Given the description of an element on the screen output the (x, y) to click on. 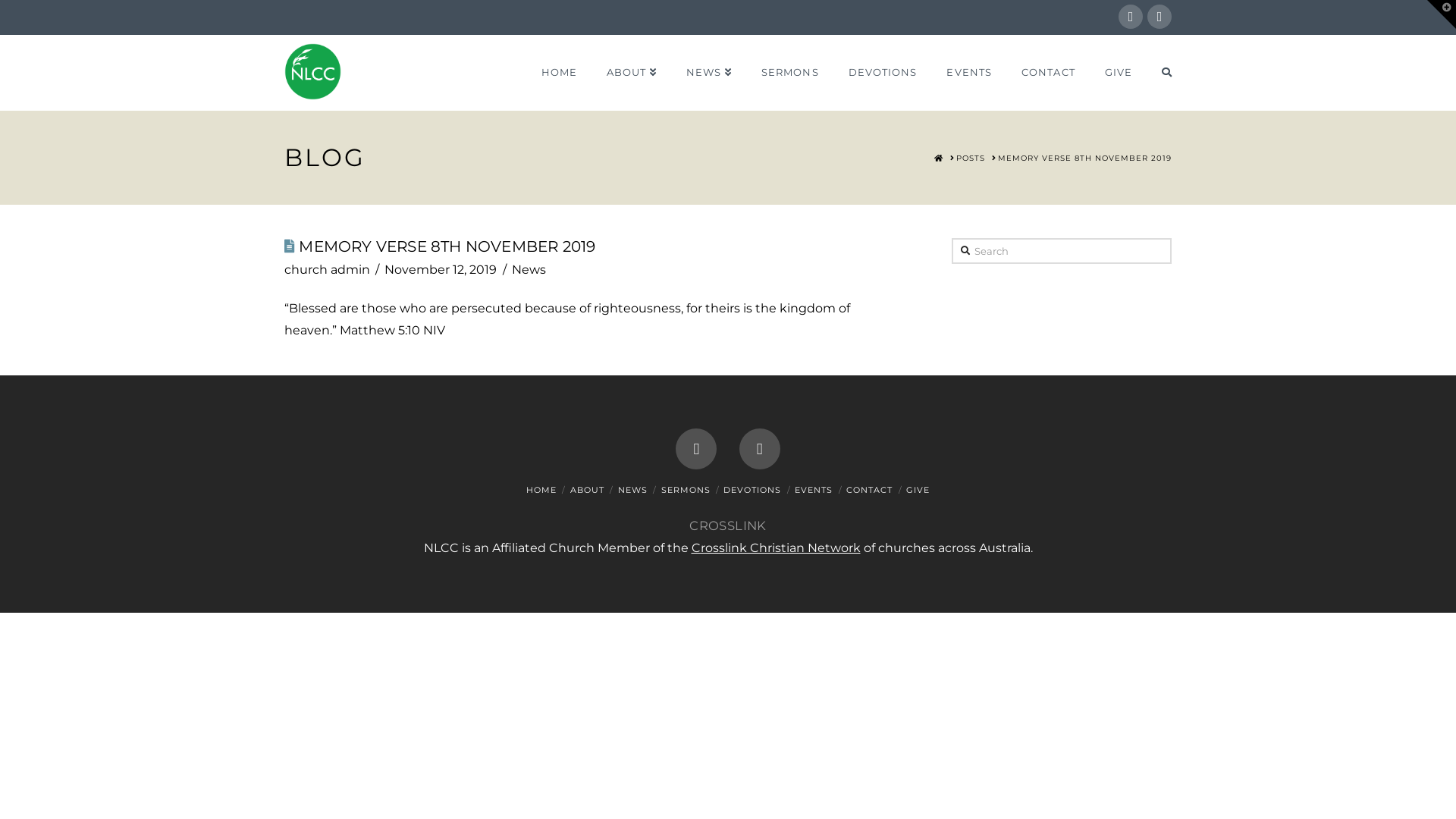
EVENTS Element type: text (813, 489)
HOME Element type: text (558, 72)
SERMONS Element type: text (685, 489)
NEWS Element type: text (708, 72)
HOME Element type: text (938, 158)
HOME Element type: text (541, 489)
News Element type: text (528, 269)
CONTACT Element type: text (869, 489)
YouTube Element type: hover (1159, 16)
DEVOTIONS Element type: text (752, 489)
POSTS Element type: text (970, 158)
Crosslink Christian Network Element type: text (775, 547)
DEVOTIONS Element type: text (882, 72)
ABOUT Element type: text (587, 489)
GIVE Element type: text (1117, 72)
MEMORY VERSE 8TH NOVEMBER 2019 Element type: text (1084, 158)
Facebook Element type: hover (695, 448)
SERMONS Element type: text (789, 72)
ABOUT Element type: text (631, 72)
Facebook Element type: hover (1130, 16)
YouTube Element type: hover (759, 448)
GIVE Element type: text (917, 489)
CONTACT Element type: text (1047, 72)
NEWS Element type: text (632, 489)
EVENTS Element type: text (968, 72)
